Given the description of an element on the screen output the (x, y) to click on. 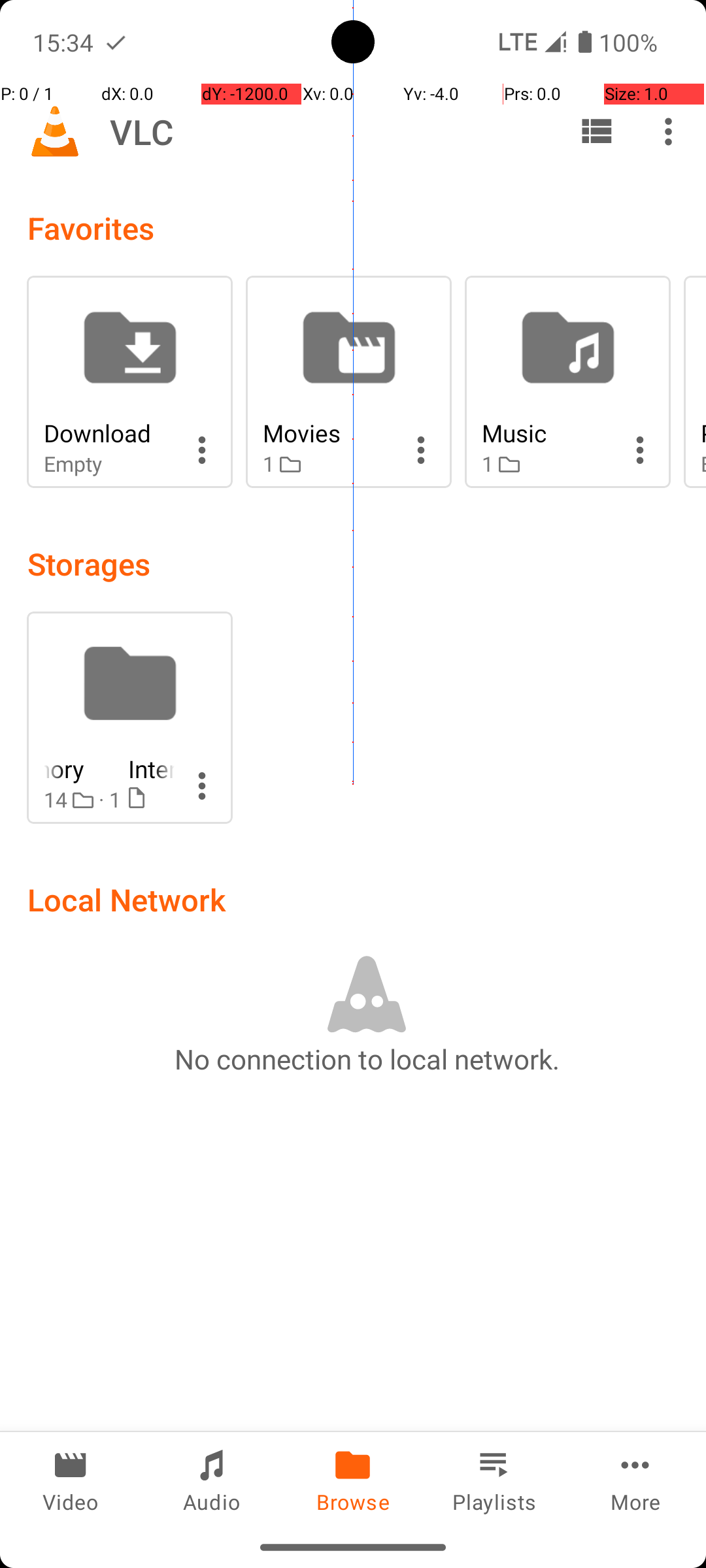
Storages Element type: android.widget.TextView (88, 563)
Local Network Element type: android.widget.TextView (126, 898)
No connection to local network. Element type: android.widget.TextView (366, 1058)
Favorite: Download, Empty Element type: androidx.cardview.widget.CardView (129, 381)
Favorite: Movies, 1 subfolder Element type: androidx.cardview.widget.CardView (348, 381)
Favorite: Music, 1 subfolder Element type: androidx.cardview.widget.CardView (567, 381)
Favorite: Podcasts, Empty Element type: androidx.cardview.widget.CardView (694, 381)
Folder: Internal memory, 14 subfolders, 1 media file Element type: androidx.cardview.widget.CardView (129, 717)
Empty Element type: android.widget.TextView (108, 463)
1 §*§ Element type: android.widget.TextView (327, 463)
14 §*§ · 1 *§* Element type: android.widget.TextView (108, 799)
